Given the description of an element on the screen output the (x, y) to click on. 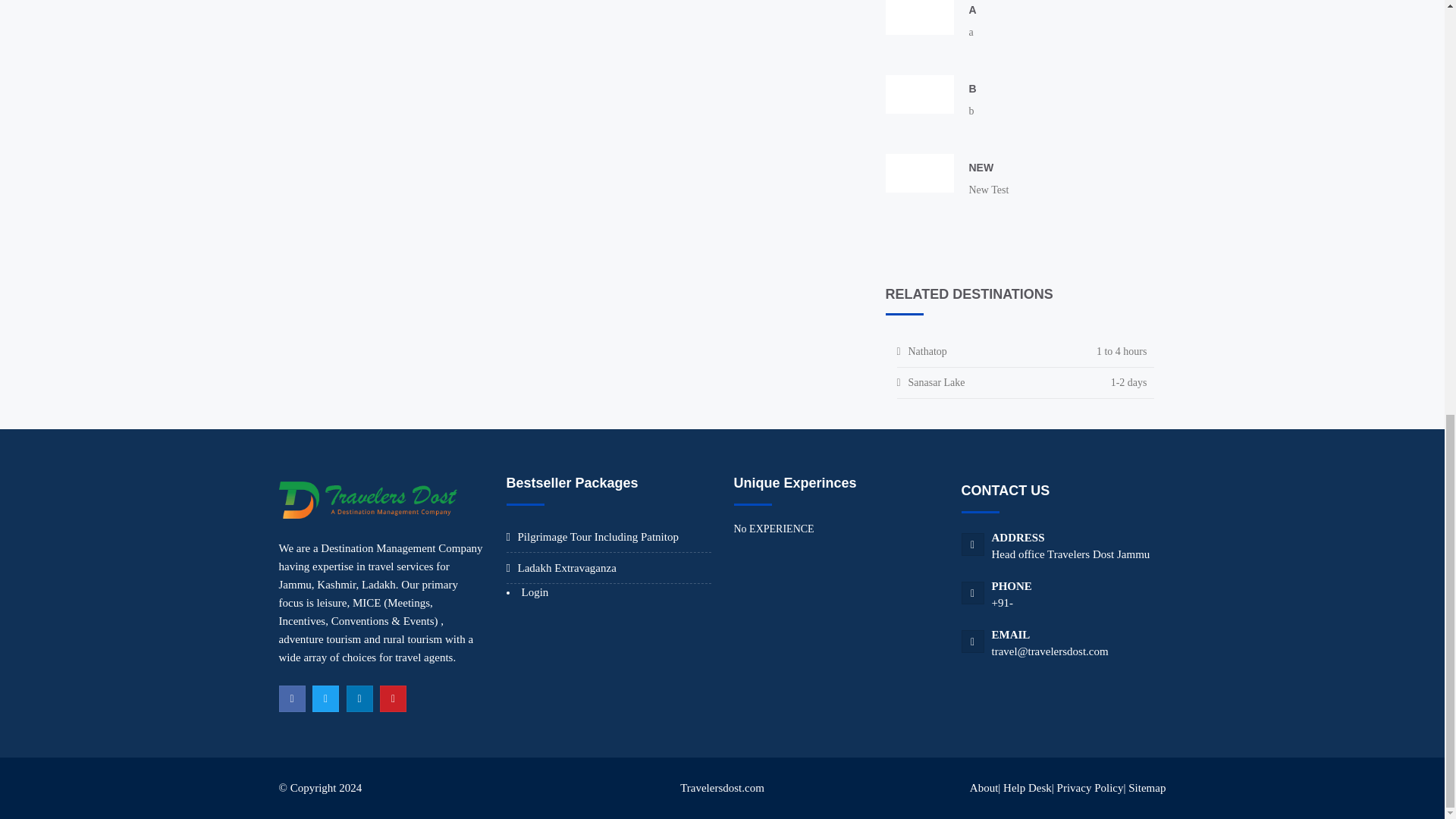
YouTube video player (919, 94)
YouTube video player (919, 172)
YouTube video player (919, 17)
